Given the description of an element on the screen output the (x, y) to click on. 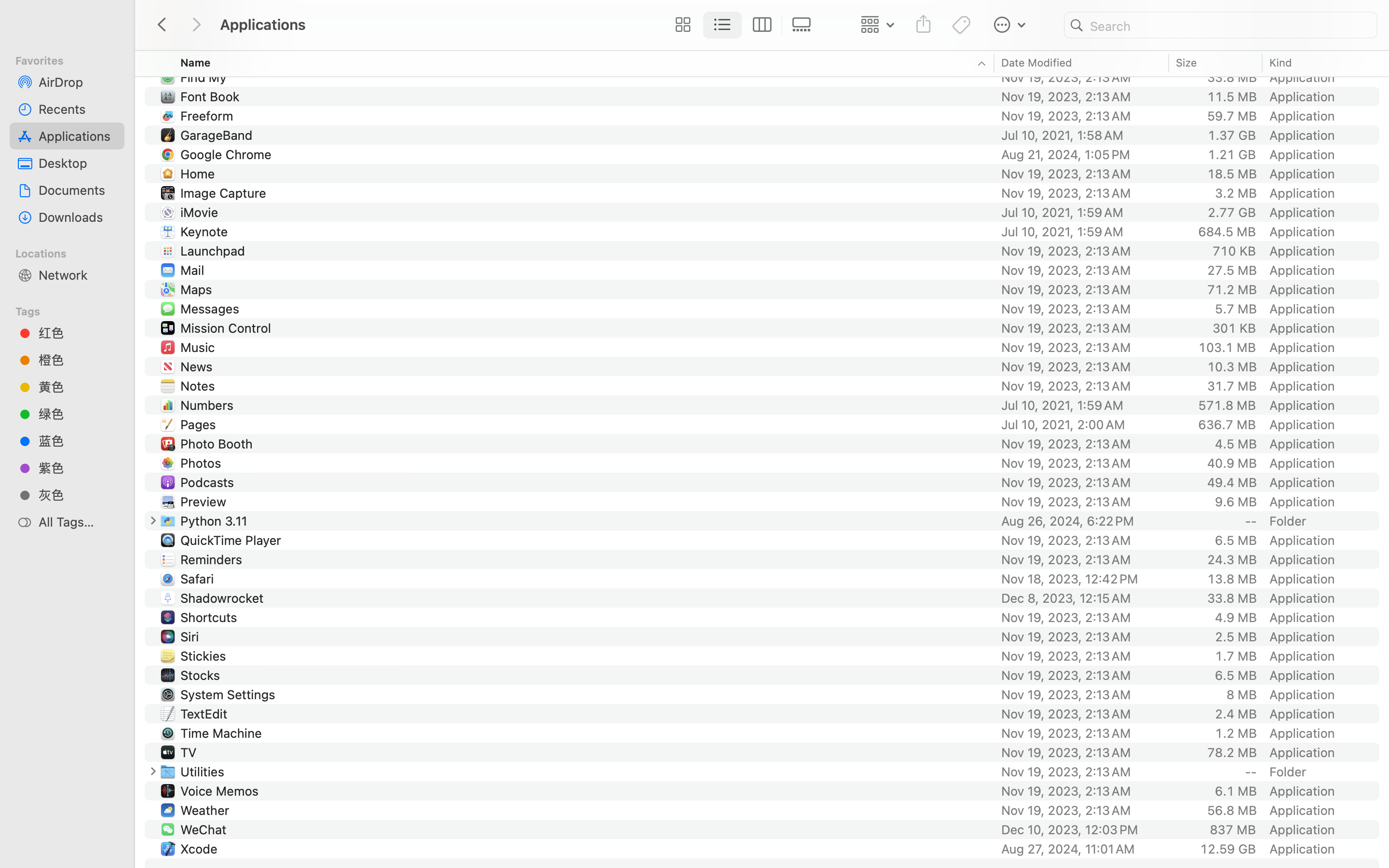
1.21 GB Element type: AXStaticText (1231, 154)
8 MB Element type: AXStaticText (1241, 694)
黄色 Element type: AXStaticText (77, 386)
Dictionary Element type: AXTextField (211, 38)
Jul 10, 2021, 1:58 AM Element type: AXStaticText (1081, 134)
